Given the description of an element on the screen output the (x, y) to click on. 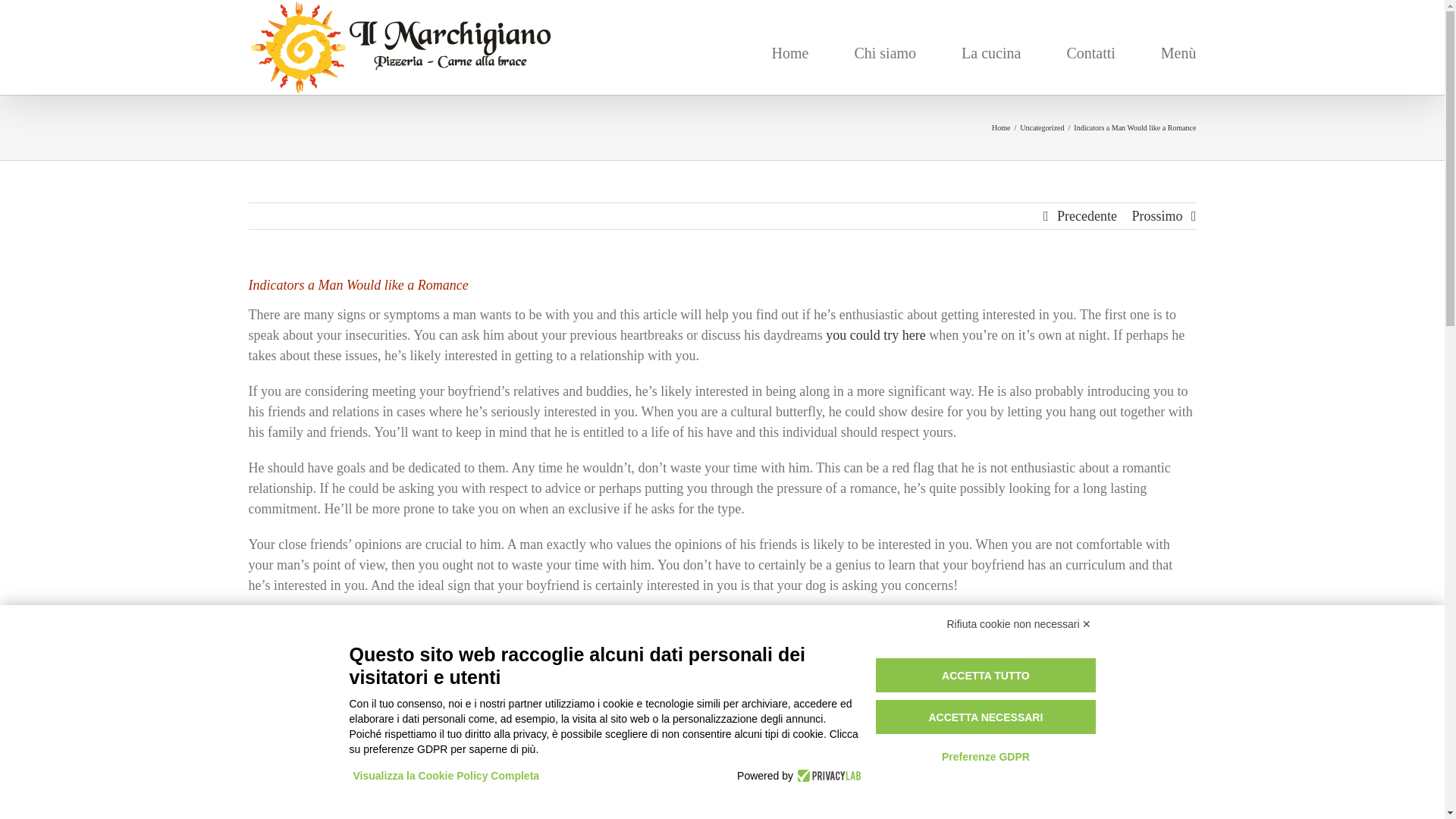
Home (790, 52)
Chi siamo (884, 52)
Home (1000, 127)
La cucina (990, 52)
you could try here (874, 335)
Precedente (1086, 216)
Contatti (1090, 52)
Prossimo (1156, 216)
Uncategorized (1042, 127)
PrivacyLab (826, 775)
